Given the description of an element on the screen output the (x, y) to click on. 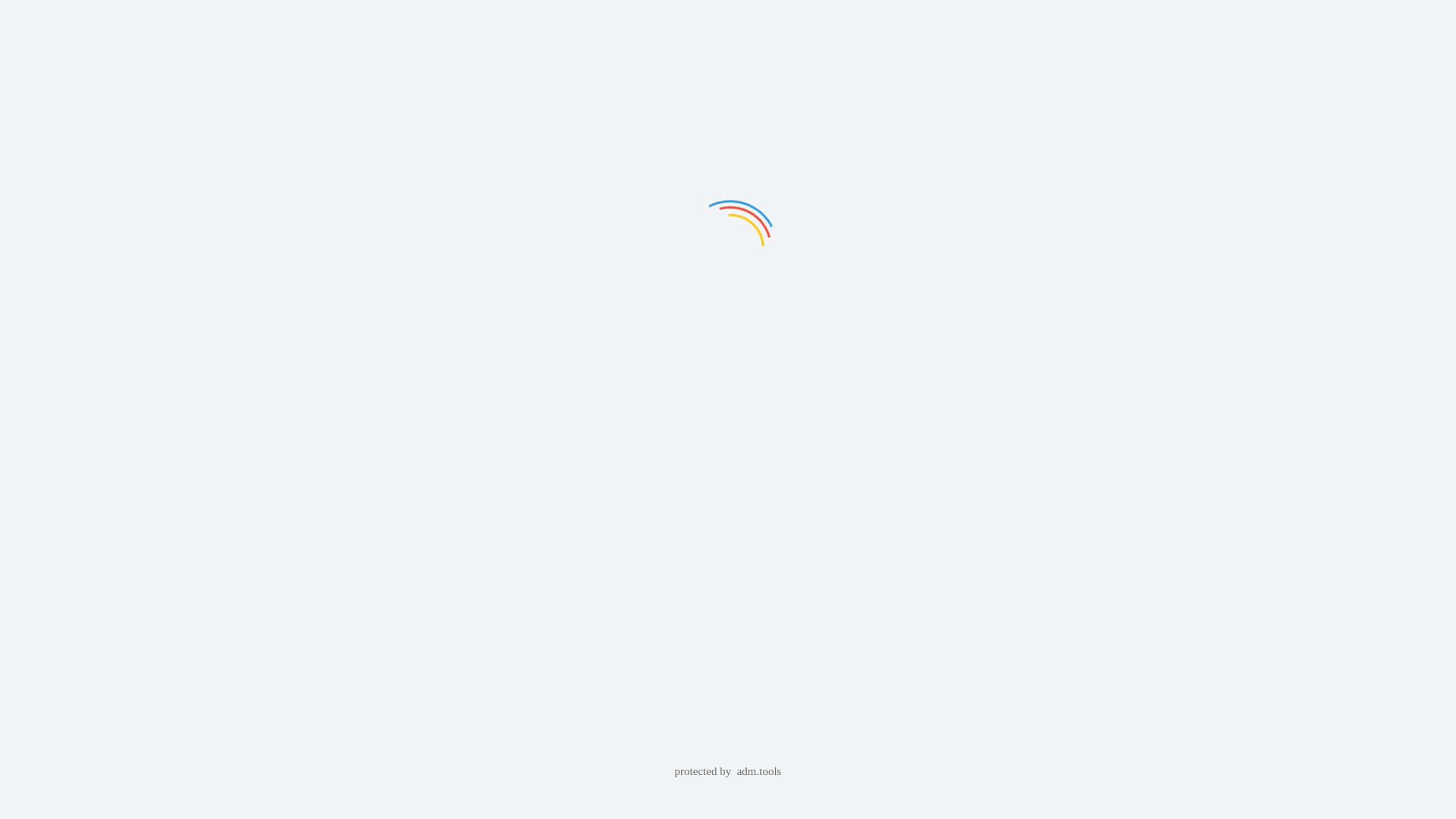
adm.tools Element type: text (759, 771)
